Given the description of an element on the screen output the (x, y) to click on. 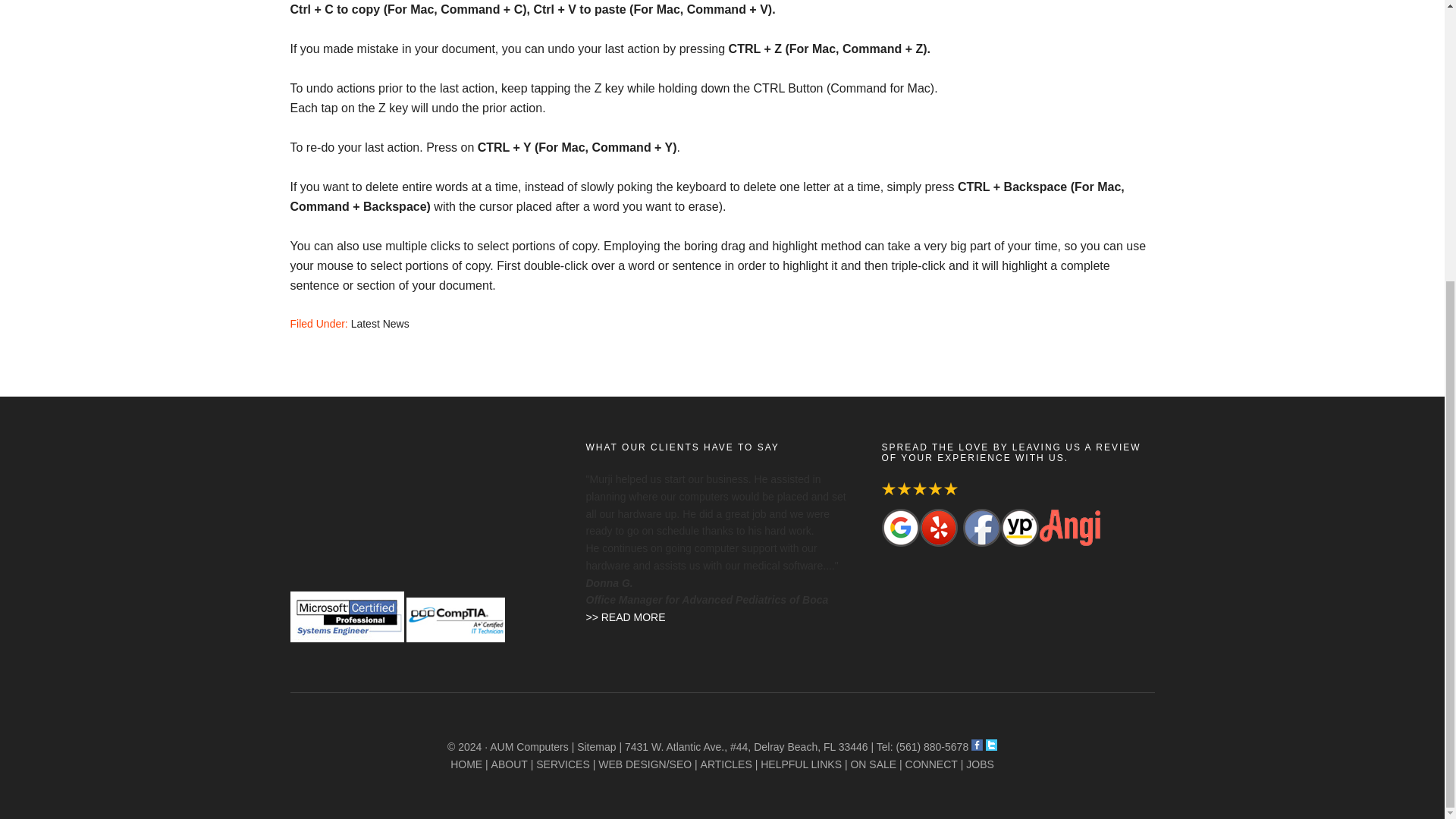
HELPFUL LINKS (800, 764)
SERVICES (562, 764)
ARTICLES (726, 764)
Latest News (379, 323)
ON SALE (873, 764)
HOME (465, 764)
Sitemap (595, 746)
ABOUT (509, 764)
